Given the description of an element on the screen output the (x, y) to click on. 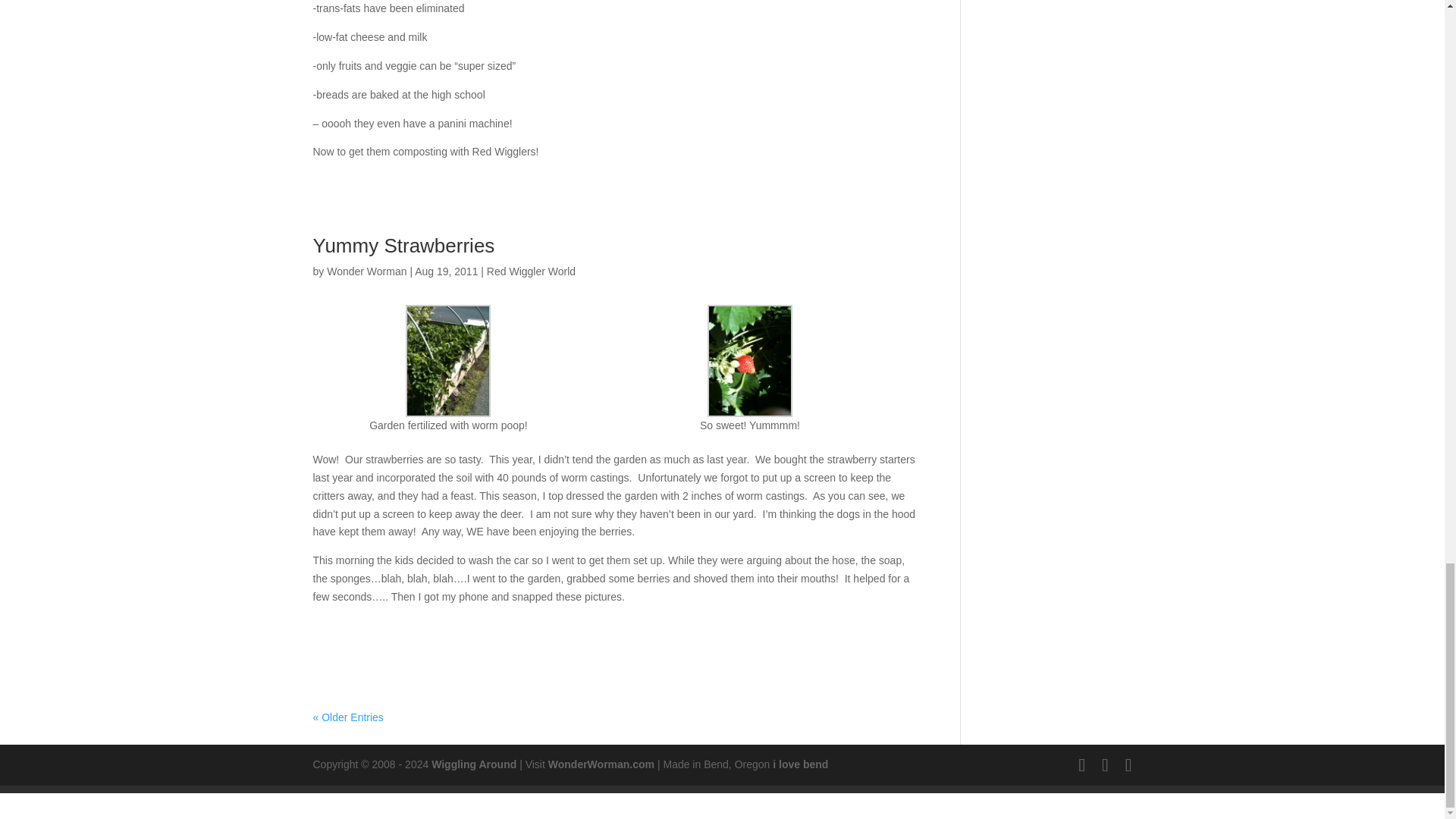
Posts by Wonder Worman (366, 271)
